Given the description of an element on the screen output the (x, y) to click on. 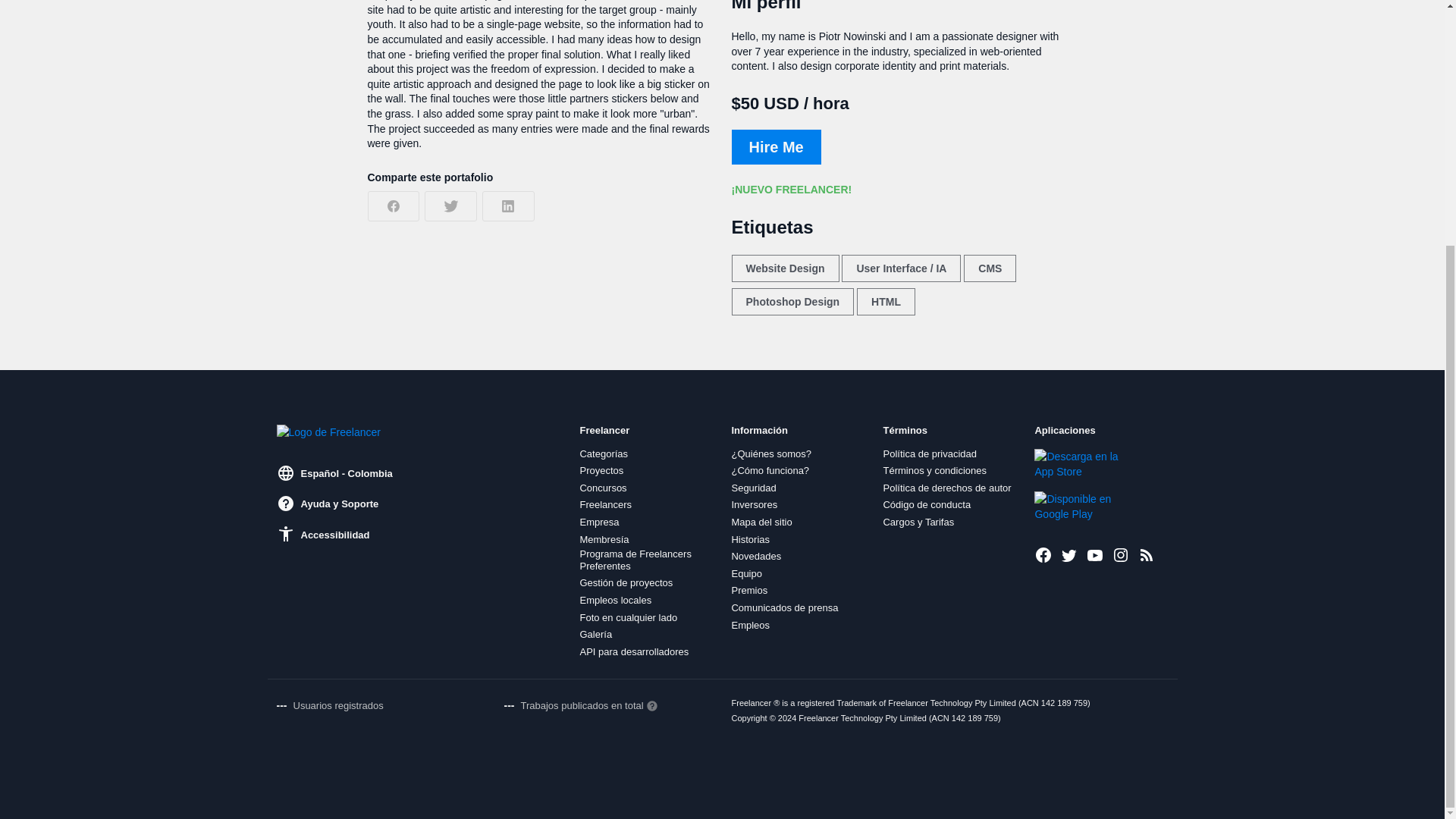
Inversores (753, 504)
Ayuda y Soporte (327, 503)
Website Design (784, 267)
Novedades (755, 556)
Disponible en Google Play (1085, 506)
Photoshop Design (791, 301)
Proyectos (601, 470)
API para desarrolladores (633, 652)
Seguridad (753, 488)
Empresa (598, 522)
